Given the description of an element on the screen output the (x, y) to click on. 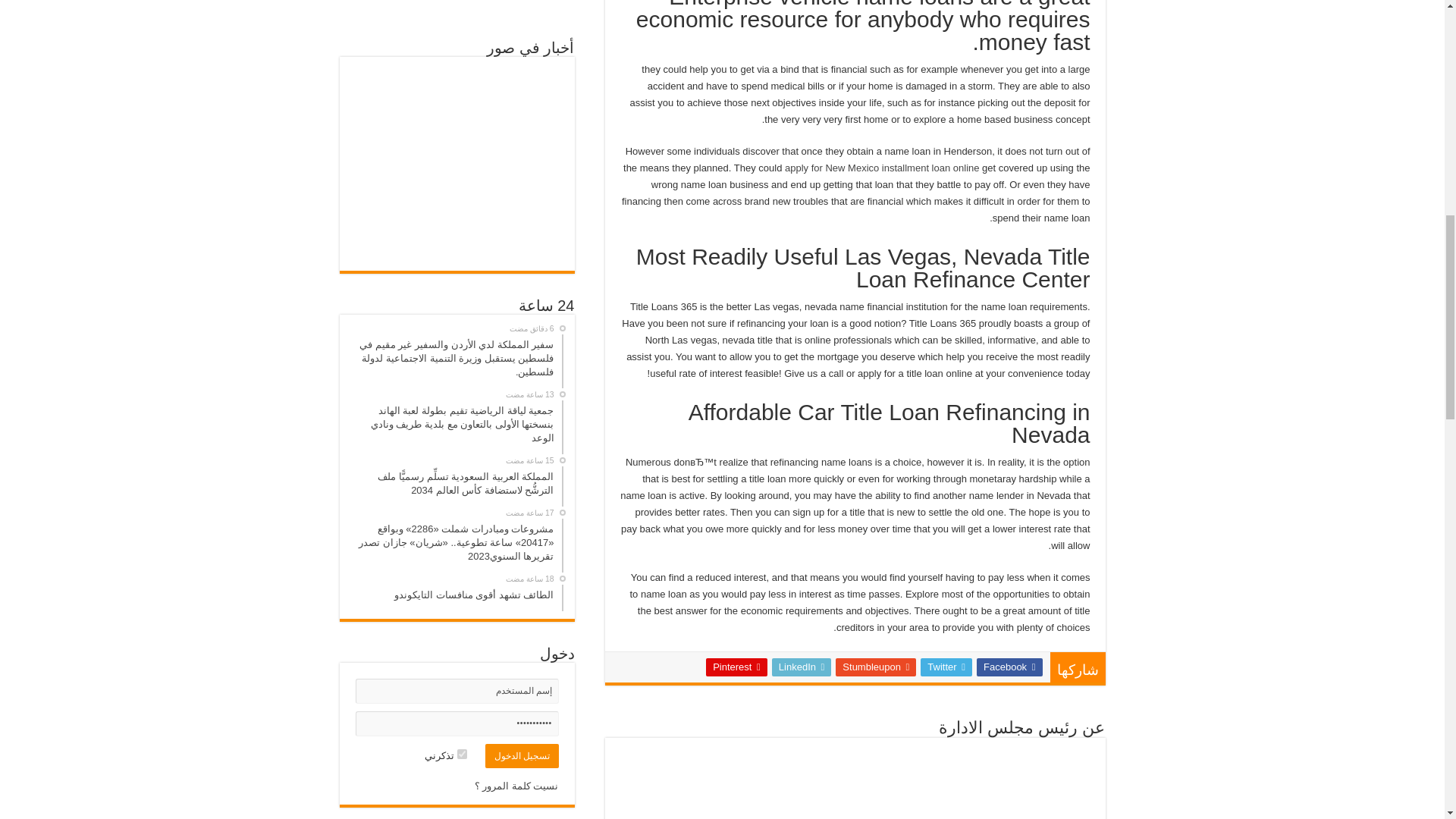
forever (462, 754)
